Given the description of an element on the screen output the (x, y) to click on. 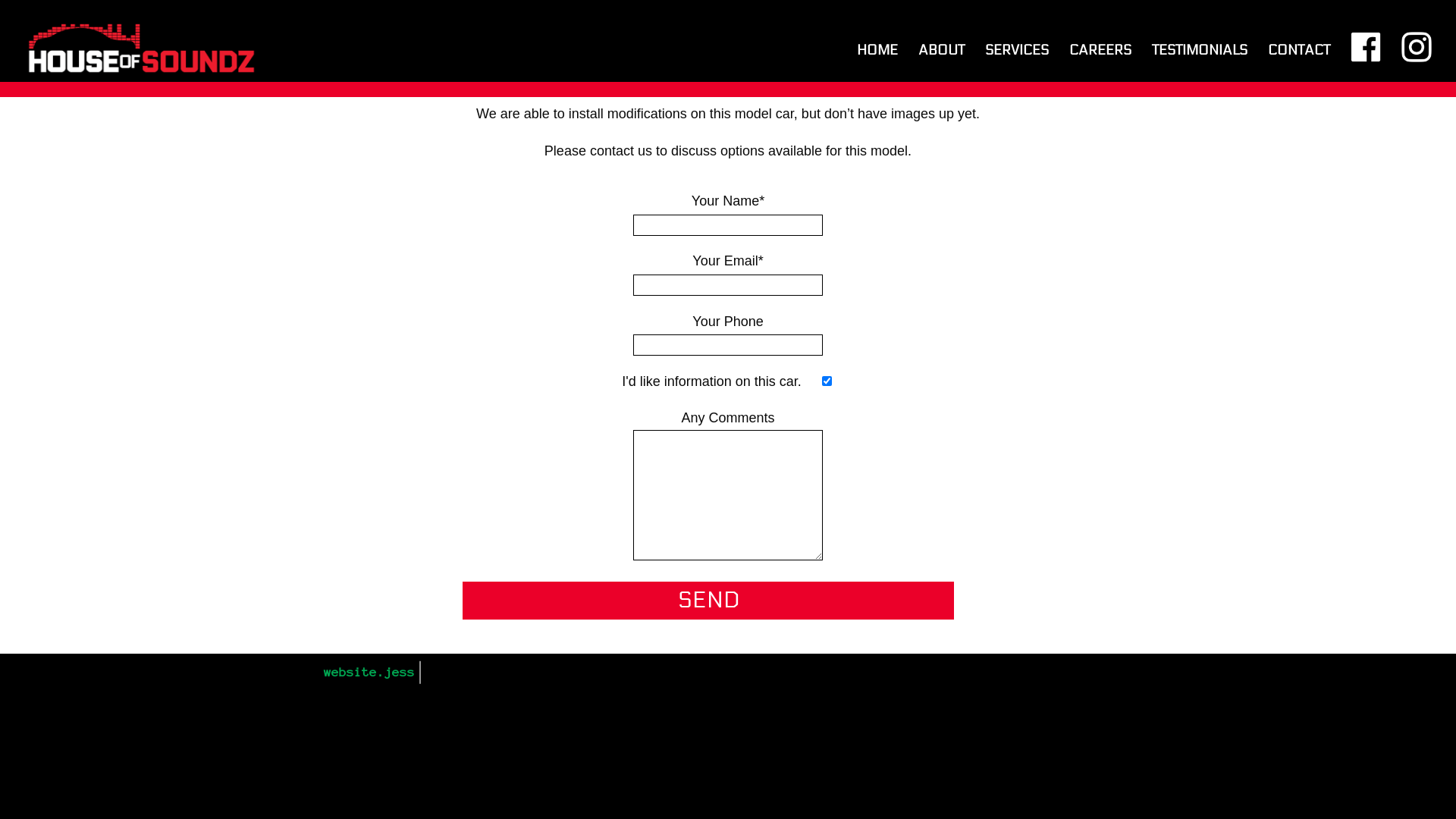
HOME Element type: text (876, 62)
Send Element type: text (707, 600)
website.jess Element type: text (368, 671)
ABOUT Element type: text (941, 62)
SERVICES Element type: text (1016, 62)
CONTACT Element type: text (1298, 62)
TESTIMONIALS Element type: text (1199, 62)
CAREERS Element type: text (1100, 62)
